Given the description of an element on the screen output the (x, y) to click on. 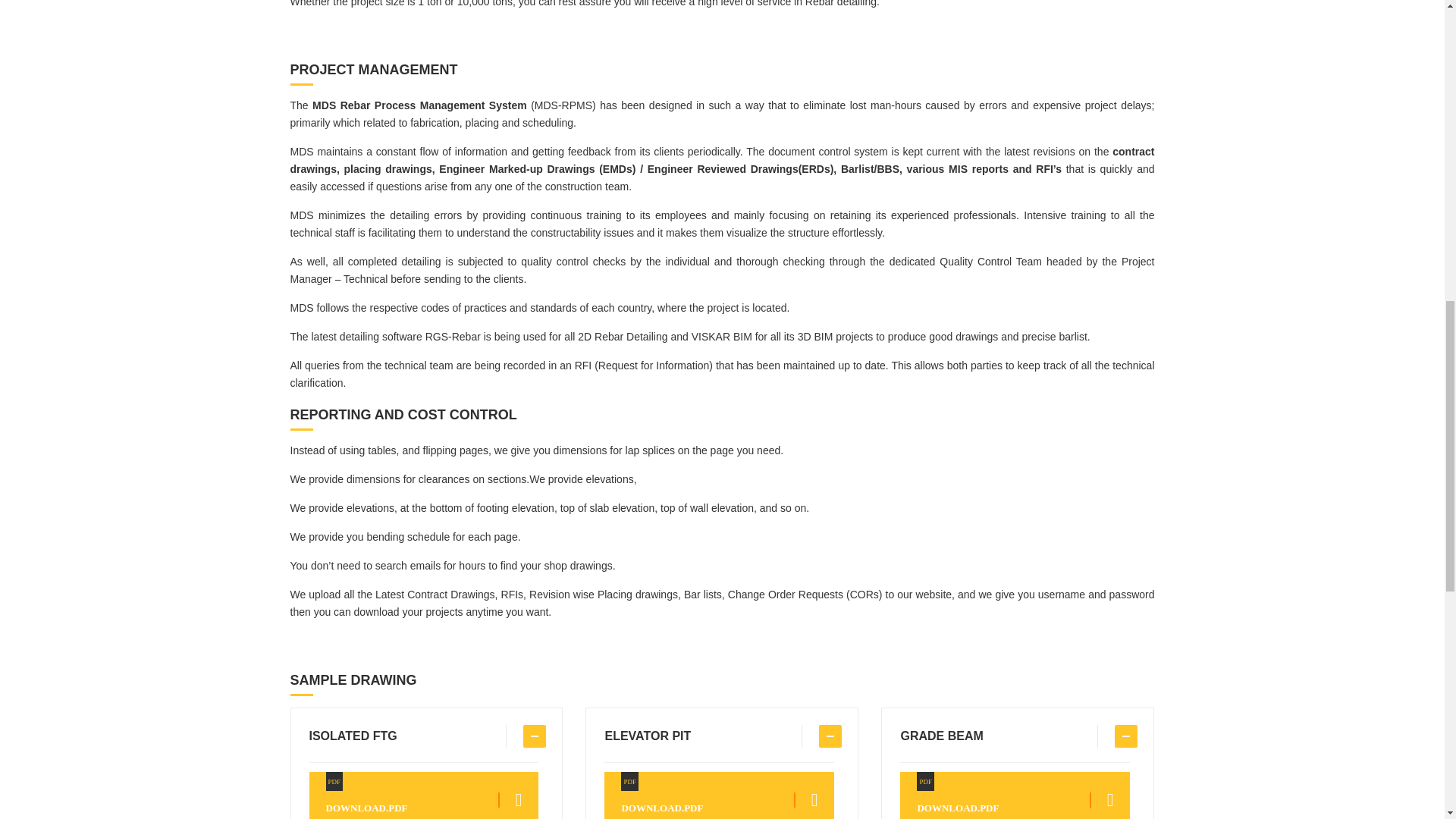
ISOLATED FTG (423, 795)
GRADE BEAM (423, 736)
ELEVATOR PIT (1014, 795)
